Given the description of an element on the screen output the (x, y) to click on. 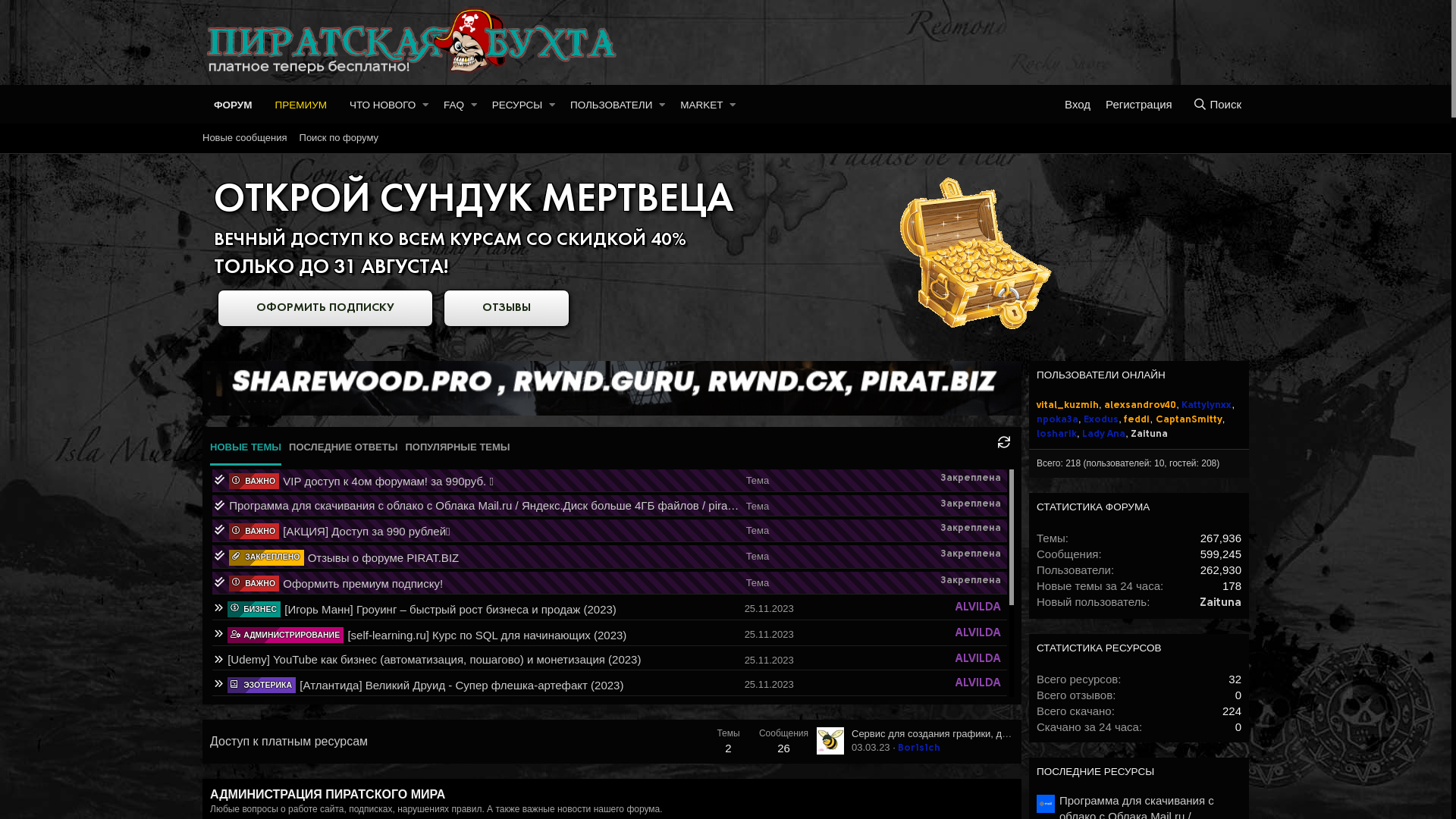
Zaituna Element type: text (1220, 602)
ALVILDA Element type: text (979, 787)
ALVILDA Element type: text (979, 683)
losharik Element type: text (1056, 434)
Exodus Element type: text (1100, 419)
Kattylynxx Element type: text (1206, 405)
vital_kuzmih Element type: text (1067, 405)
Bor1s1ch Element type: text (918, 748)
ALVILDA Element type: text (979, 633)
ALVILDA Element type: text (979, 760)
Lady Ana Element type: text (1103, 434)
CaptanSmitty Element type: text (1188, 419)
ALVILDA Element type: text (979, 607)
npoka3a Element type: text (1057, 419)
feddi Element type: text (1136, 419)
alexsandrov40 Element type: text (1140, 405)
FAQ Element type: text (449, 104)
Zaituna Element type: text (1148, 434)
ALVILDA Element type: text (979, 659)
ALVILDA Element type: text (979, 709)
MARKET Element type: text (696, 104)
ALVILDA Element type: text (979, 735)
